Given the description of an element on the screen output the (x, y) to click on. 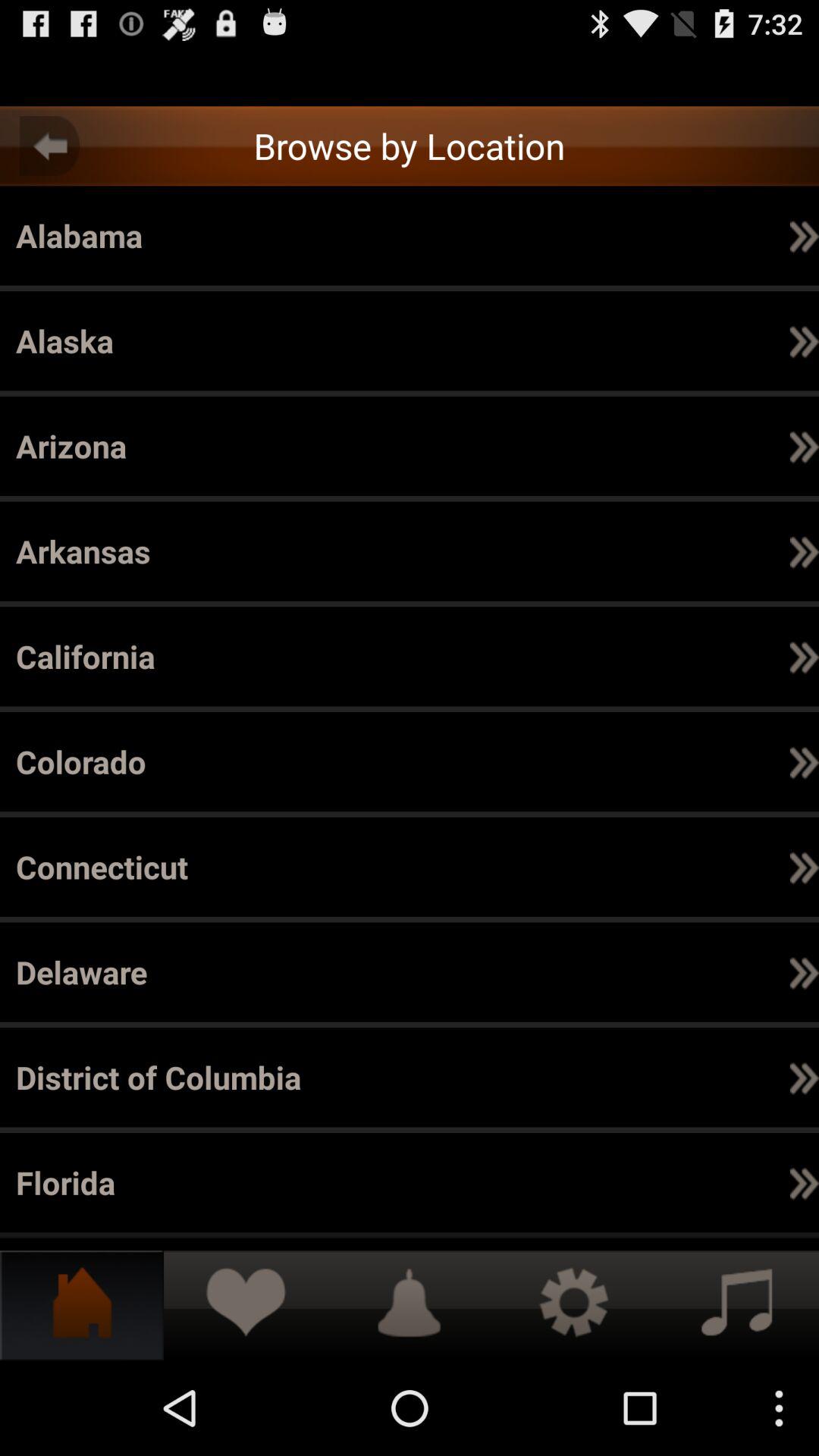
press app below      icon (804, 866)
